Given the description of an element on the screen output the (x, y) to click on. 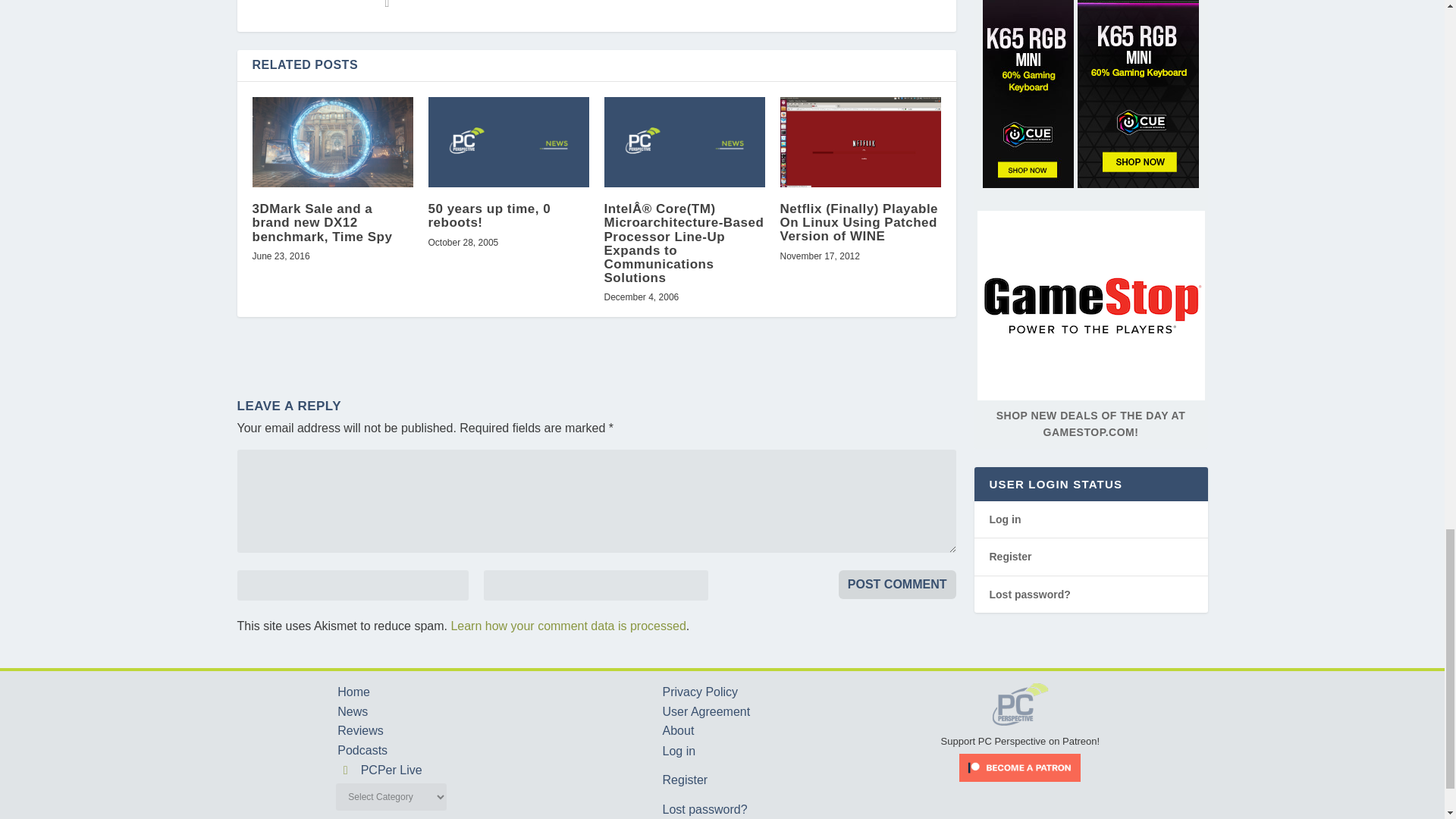
50 years up time, 0 reboots! (508, 142)
Post Comment (897, 584)
3DMark Sale and a brand new DX12 benchmark, Time Spy (331, 142)
Support PC Perspective on Patreon! (1020, 734)
